Given the description of an element on the screen output the (x, y) to click on. 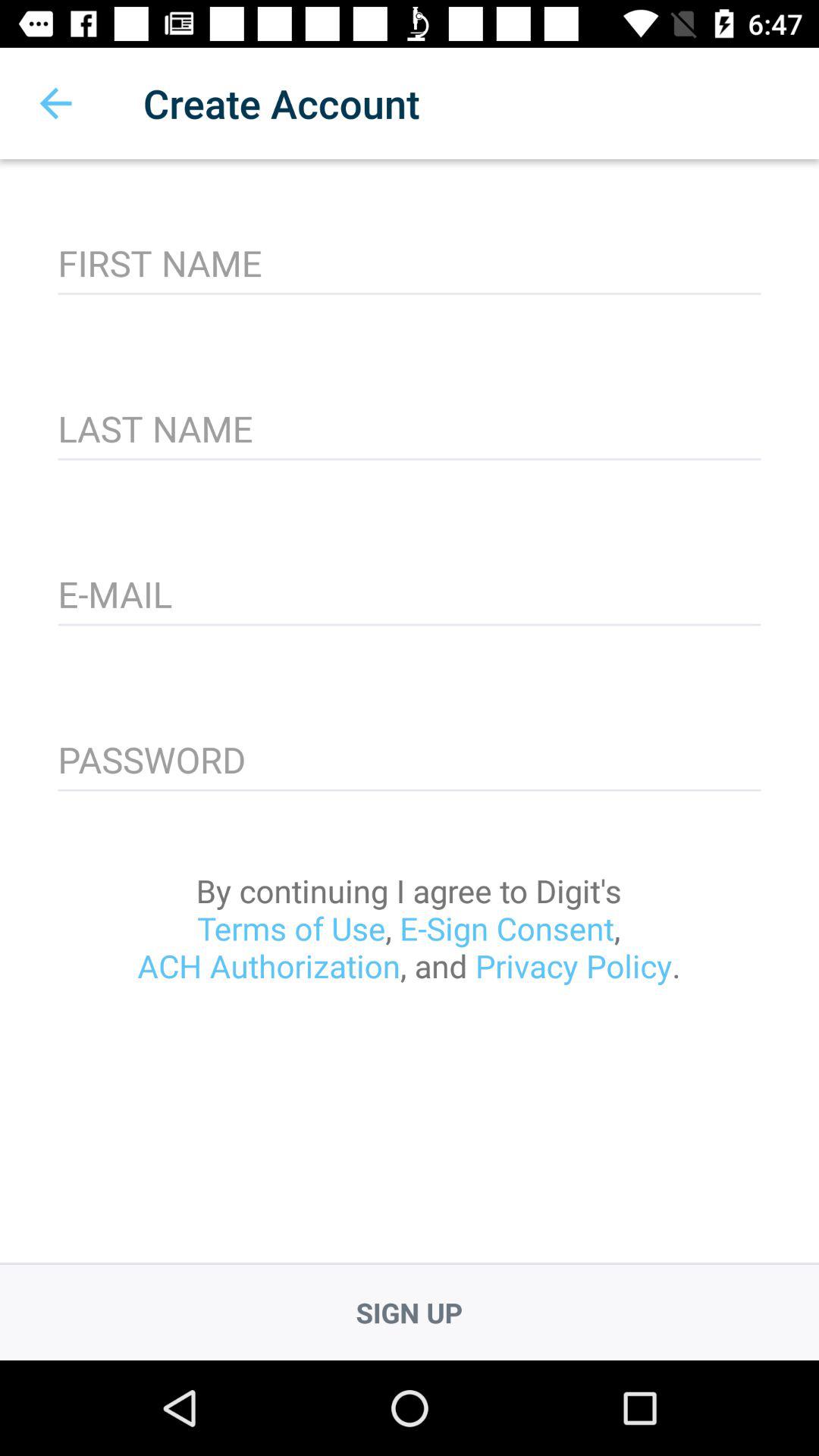
open item at the top left corner (55, 103)
